Given the description of an element on the screen output the (x, y) to click on. 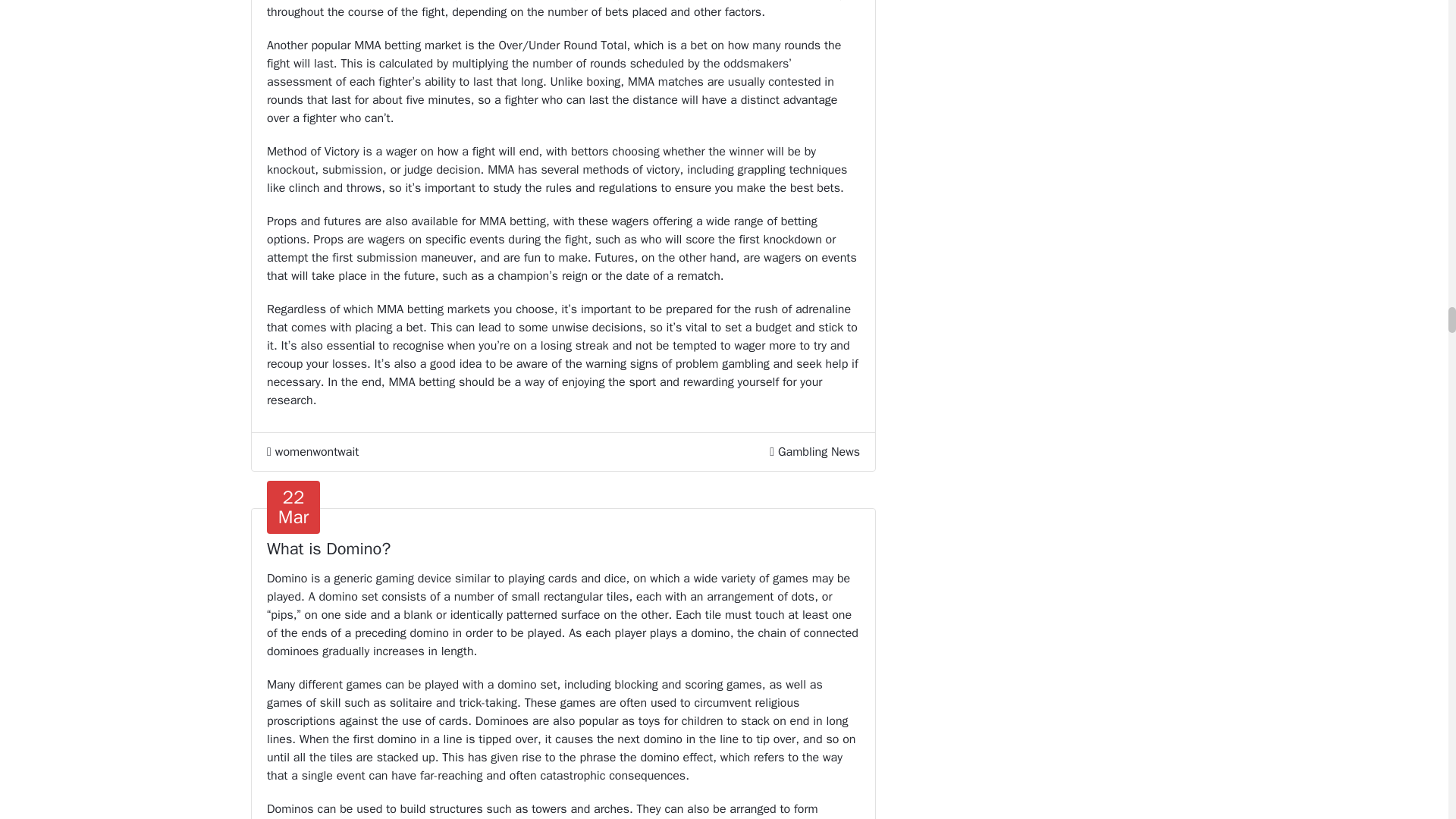
womenwontwait (312, 452)
